Given the description of an element on the screen output the (x, y) to click on. 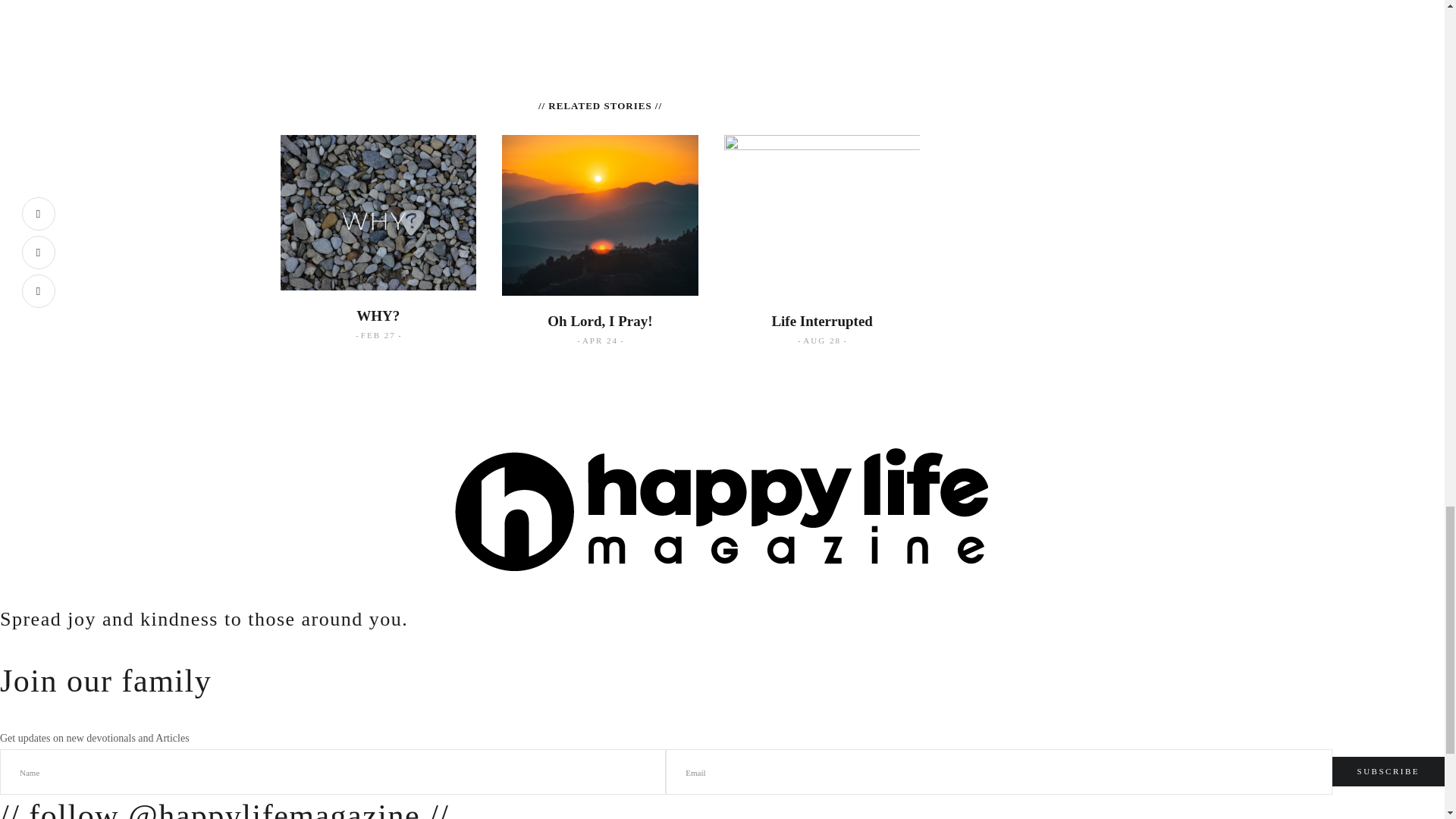
Oh Lord, I Pray! (599, 320)
Life Interrupted (821, 320)
Life Interrupted (821, 320)
WHY? (377, 315)
WHY? (377, 315)
Oh Lord, I Pray! (599, 320)
